Given the description of an element on the screen output the (x, y) to click on. 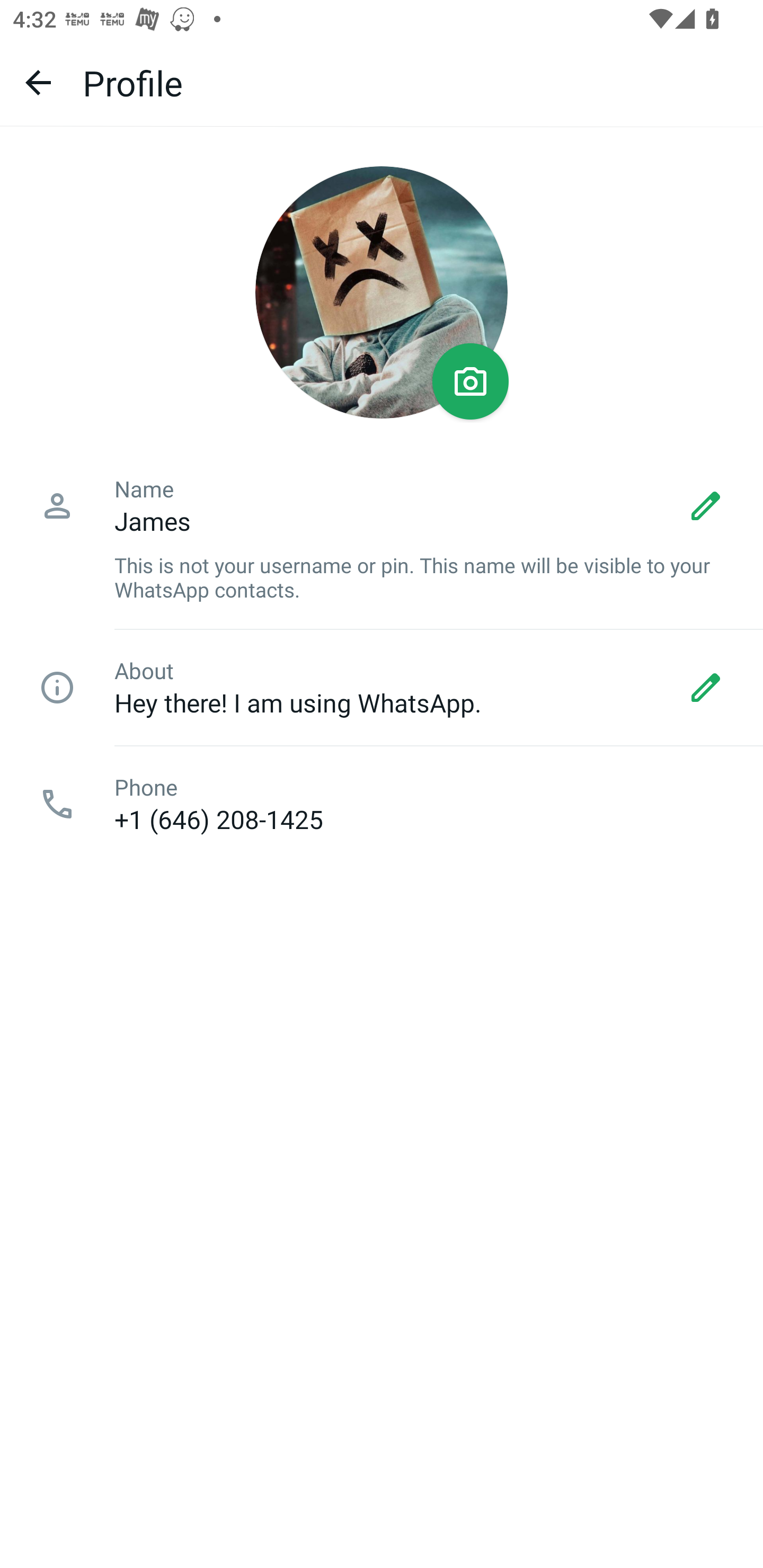
Navigate up (38, 82)
Profile photo (381, 292)
Edit photo (470, 381)
About Hey there! I am using WhatsApp. (381, 687)
Phone +1 (646) 208-1425 (381, 804)
